Given the description of an element on the screen output the (x, y) to click on. 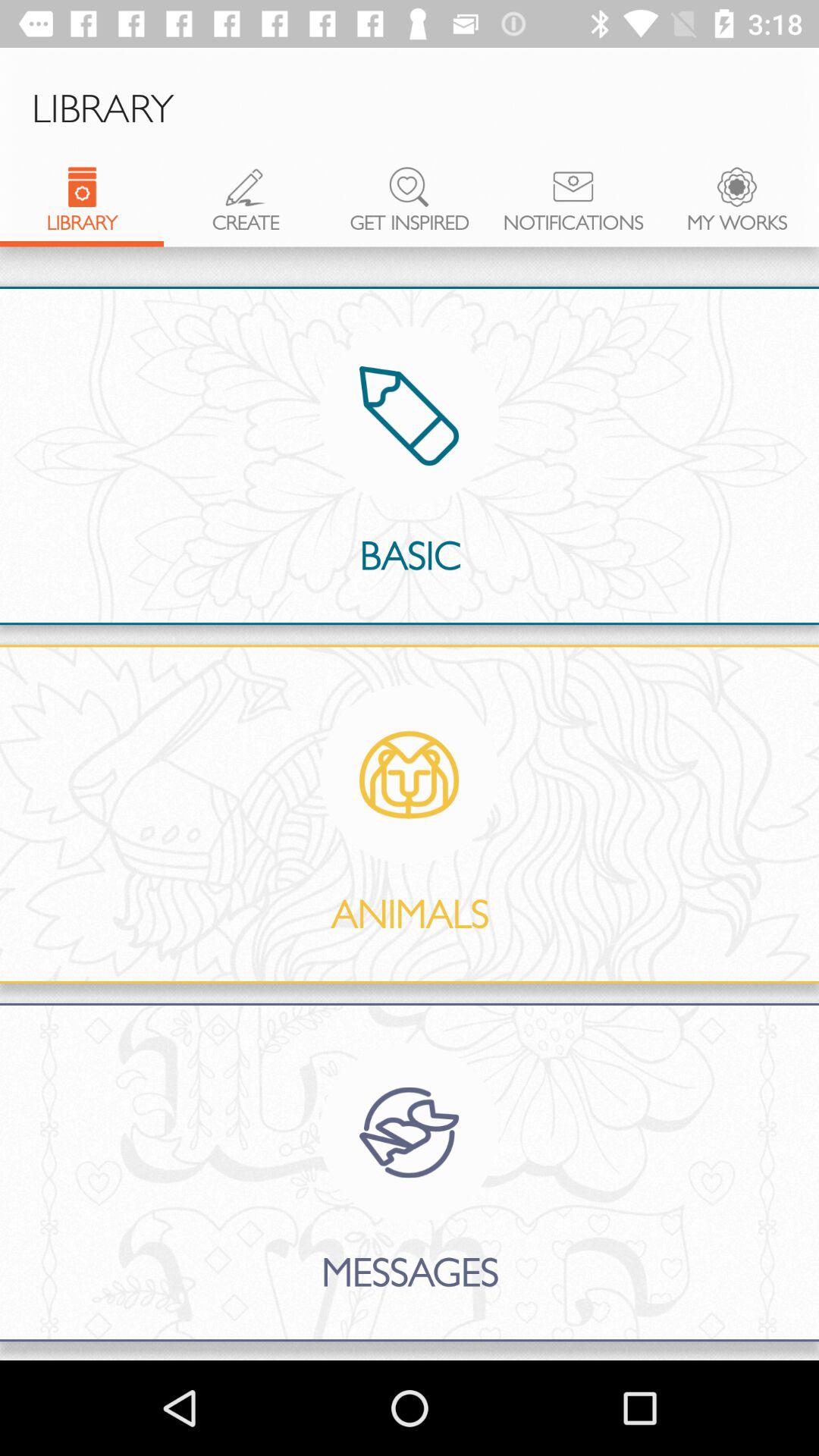
click on the notifications (573, 207)
select the 3rd icon from the top (409, 186)
